Given the description of an element on the screen output the (x, y) to click on. 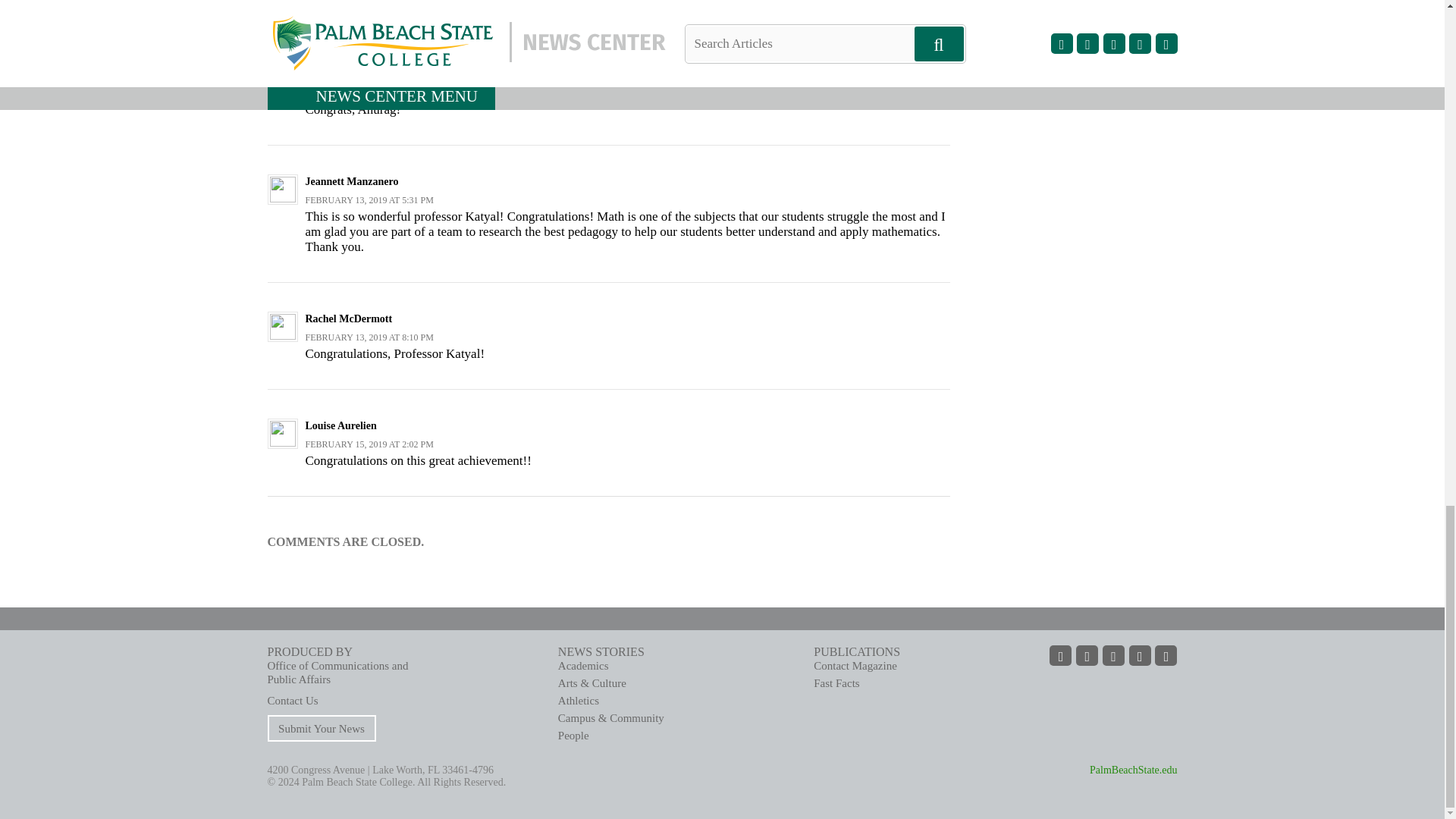
FEBRUARY 13, 2019 AT 8:10 PM (368, 337)
FEBRUARY 13, 2019 AT 5:14 PM (368, 92)
FEBRUARY 13, 2019 AT 5:31 PM (368, 199)
FEBRUARY 15, 2019 AT 2:02 PM (368, 443)
